Given the description of an element on the screen output the (x, y) to click on. 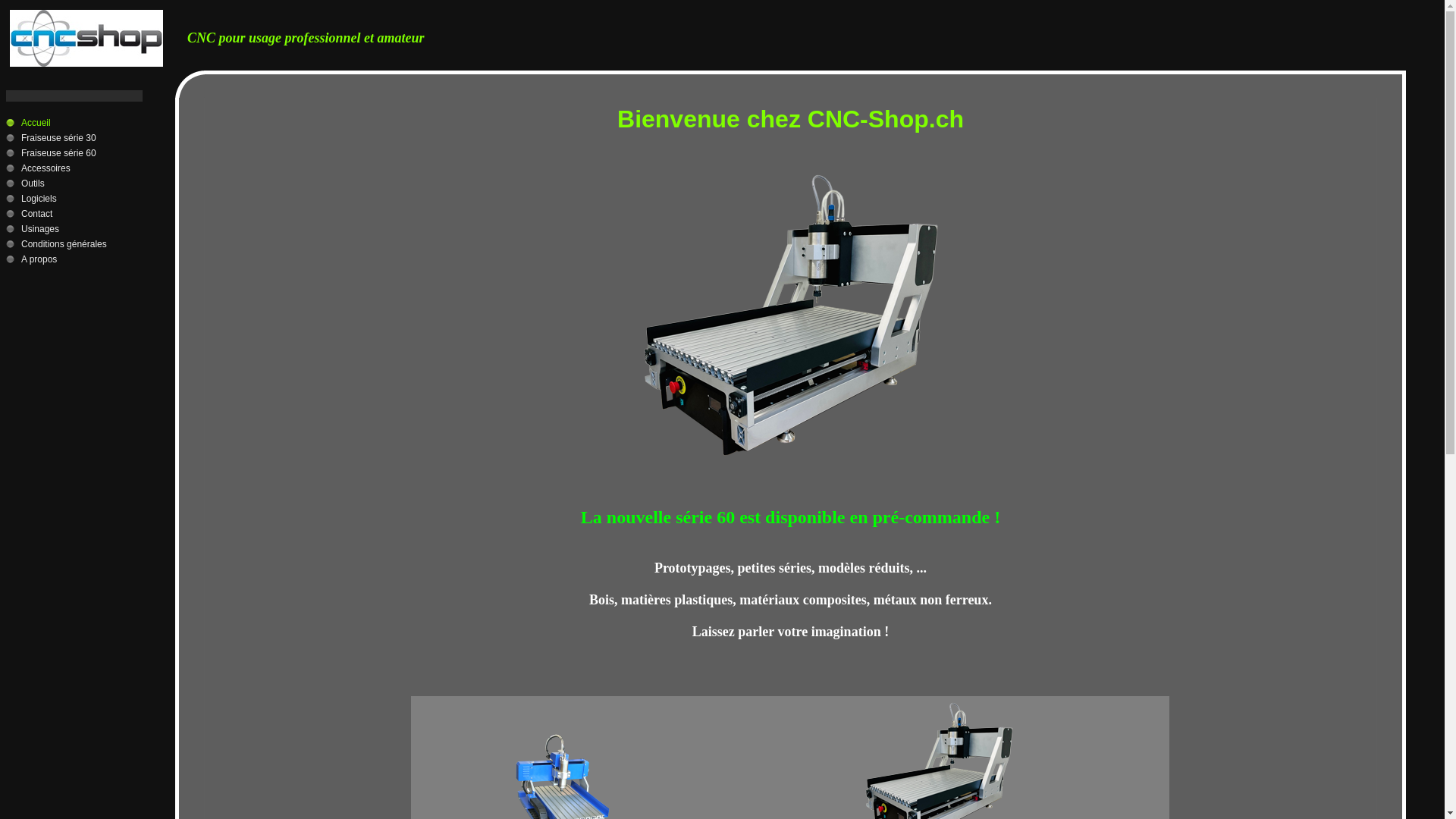
Accueil Element type: text (74, 122)
Outils Element type: text (74, 183)
Contact Element type: text (74, 213)
Logiciels Element type: text (74, 198)
A propos Element type: text (74, 258)
Usinages Element type: text (74, 228)
Accessoires Element type: text (74, 167)
